Given the description of an element on the screen output the (x, y) to click on. 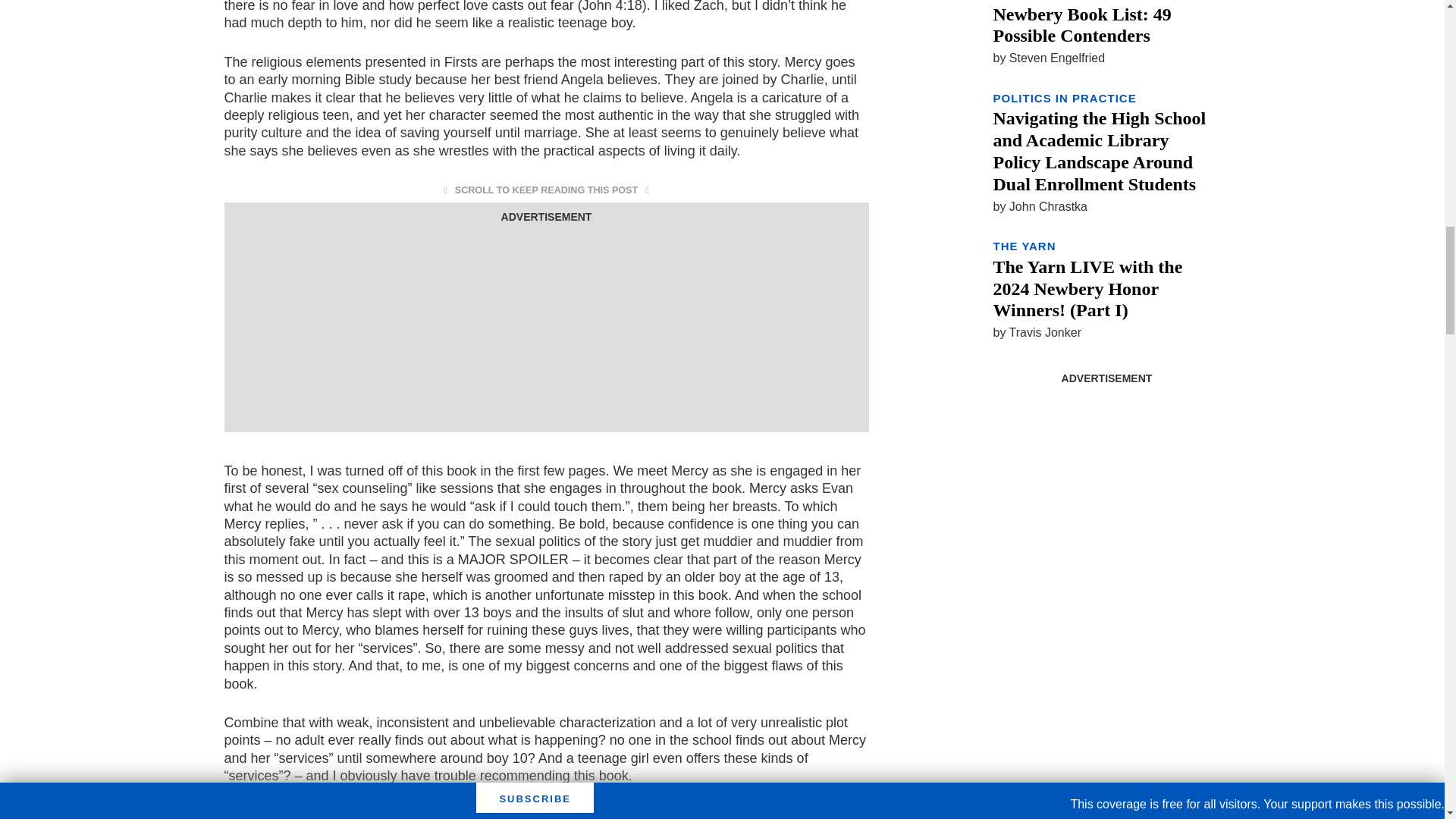
3rd party ad content (545, 321)
3rd party ad content (1106, 487)
SCROLL TO KEEP READING THIS POST (546, 190)
